Given the description of an element on the screen output the (x, y) to click on. 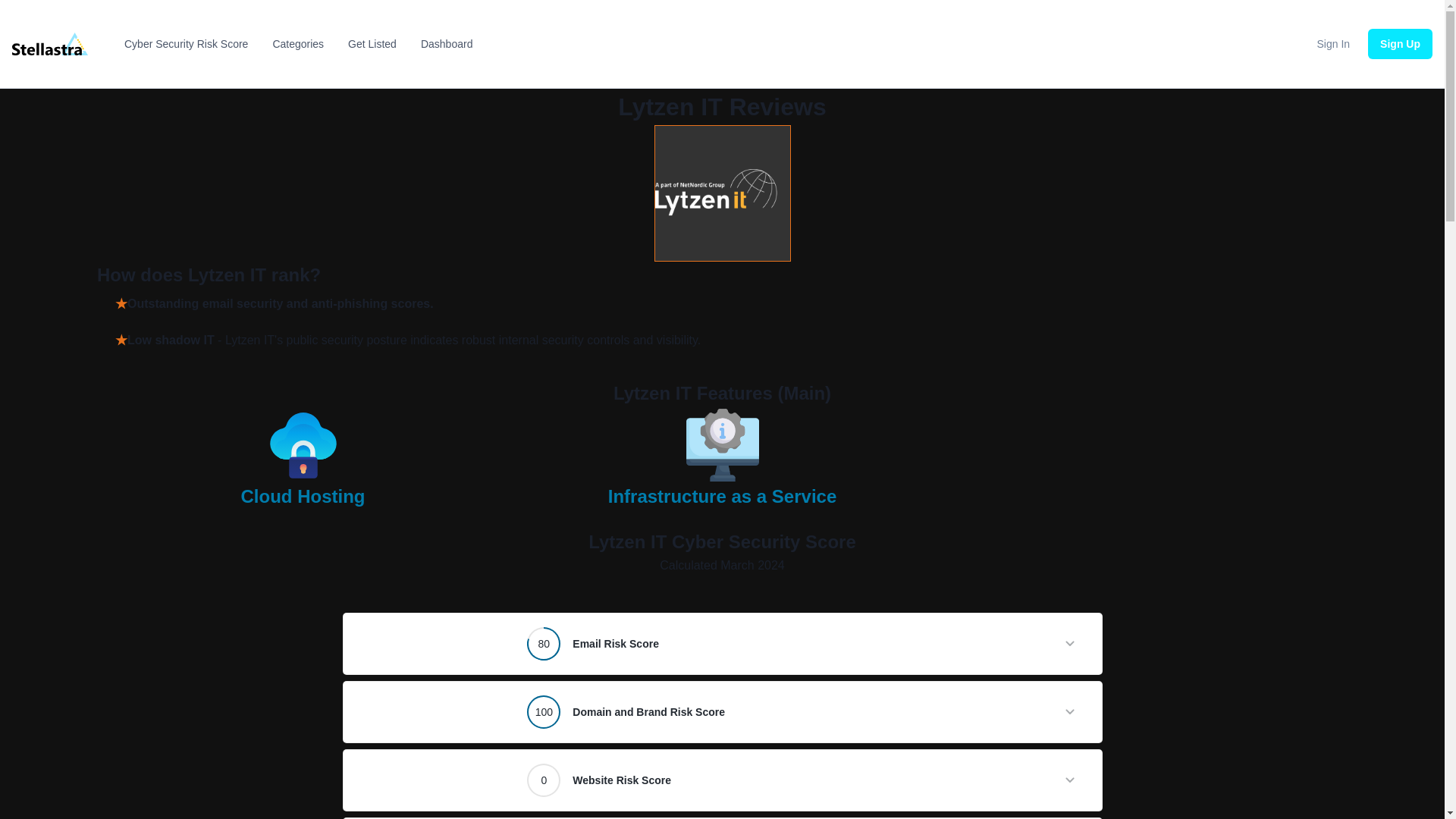
Dashboard (446, 44)
Sign Up (1400, 43)
Cyber Security Risk Score (185, 44)
Sign In (1334, 43)
Infrastructure as a Service (722, 504)
Cloud Hosting (303, 504)
Categories (298, 44)
Get Listed (372, 44)
